Given the description of an element on the screen output the (x, y) to click on. 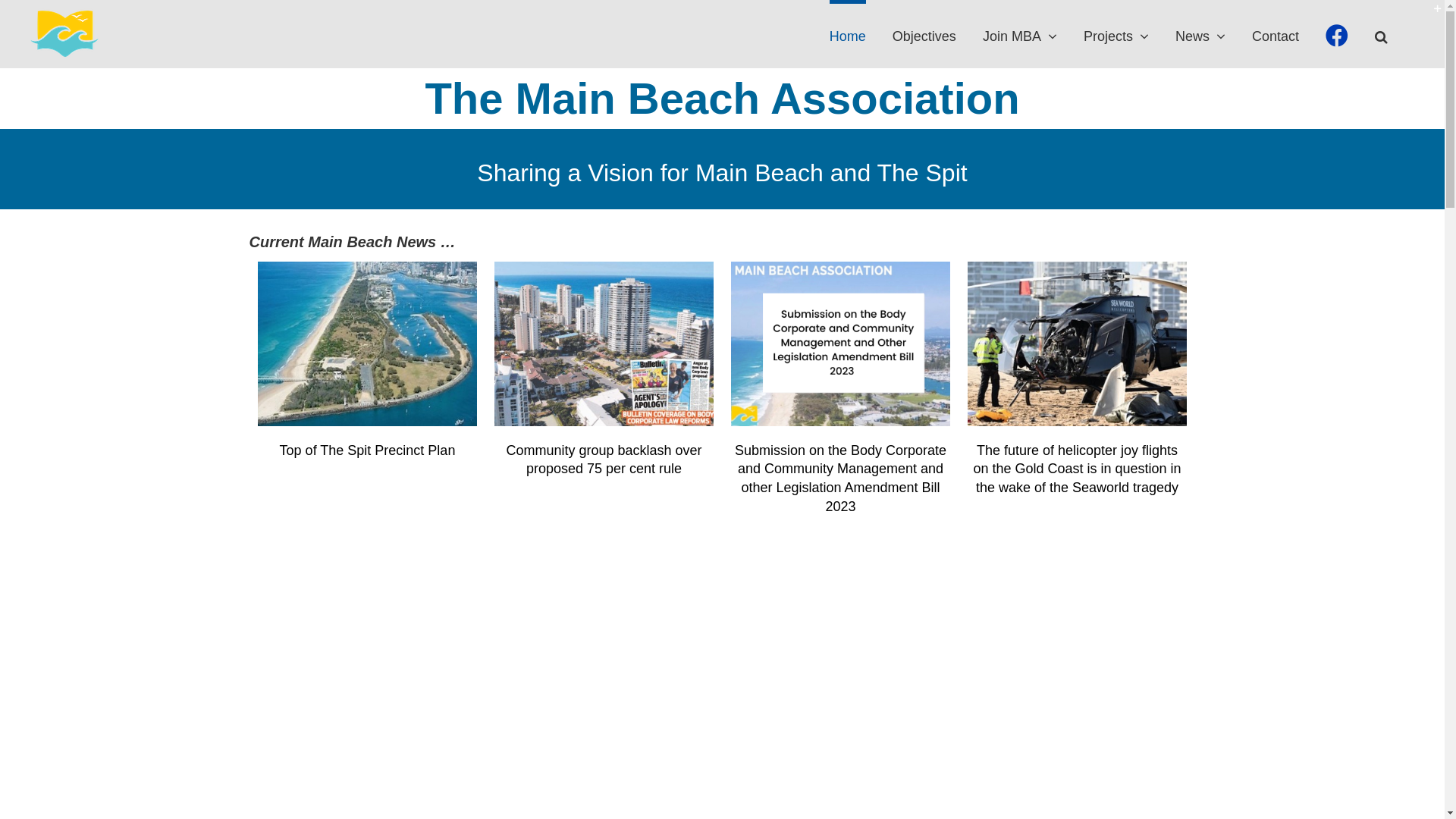
Community group backlash over proposed 75 per cent rule Element type: hover (603, 343)
Contact Element type: text (1275, 34)
Home Element type: text (847, 34)
MBA Element type: hover (840, 343)
Toggle Sliding Bar Area Element type: text (1430, 13)
Join MBA Element type: text (1019, 34)
Spit MB Element type: hover (366, 343)
News Element type: text (1200, 34)
Projects Element type: text (1115, 34)
Search Element type: hover (1380, 34)
Seaworld helicopters tragedy Element type: hover (1076, 343)
Objectives Element type: text (924, 34)
